Given the description of an element on the screen output the (x, y) to click on. 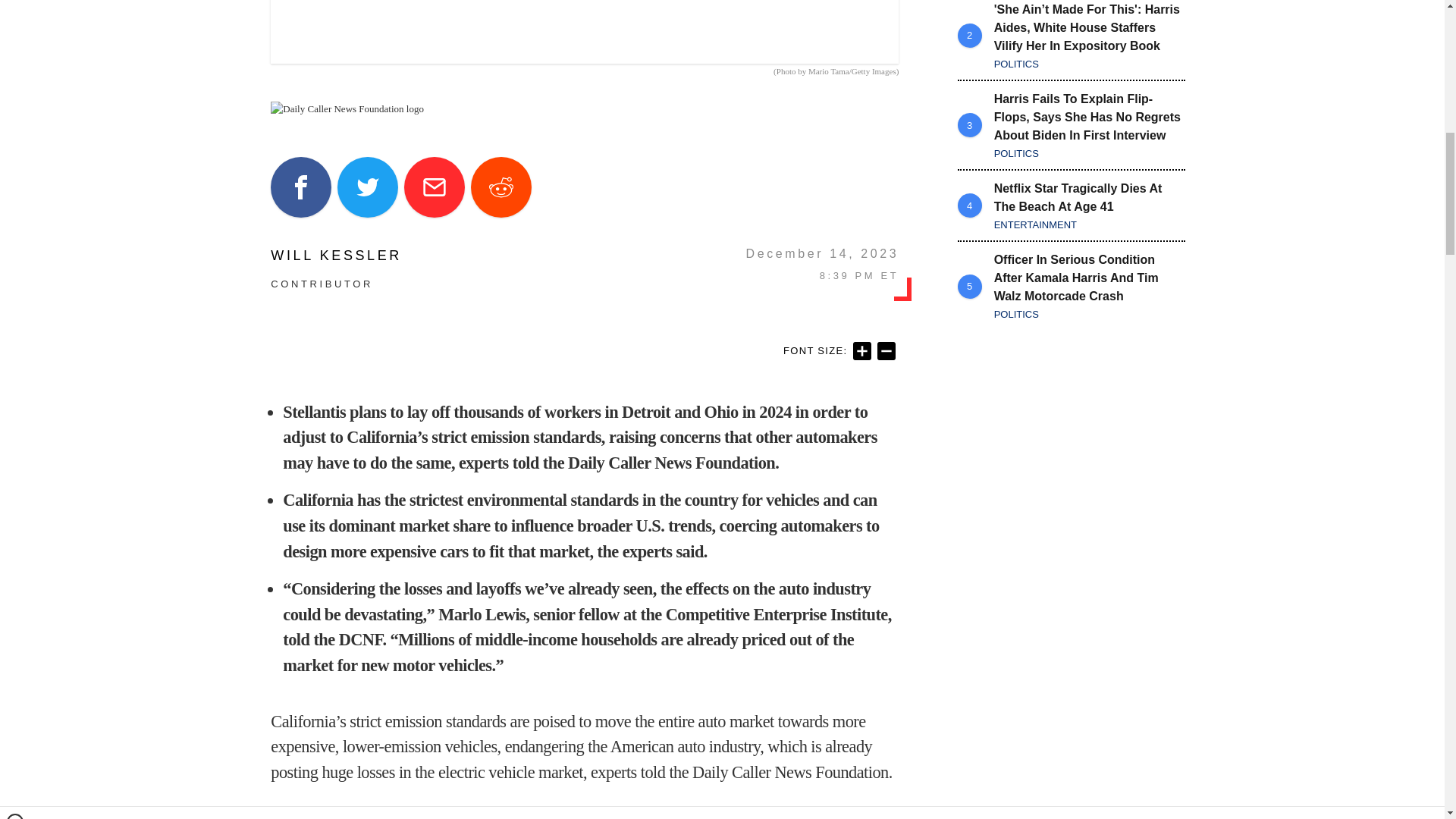
WILL KESSLER (335, 255)
Close window (14, 6)
View More Articles By Will Kessler (335, 255)
